Given the description of an element on the screen output the (x, y) to click on. 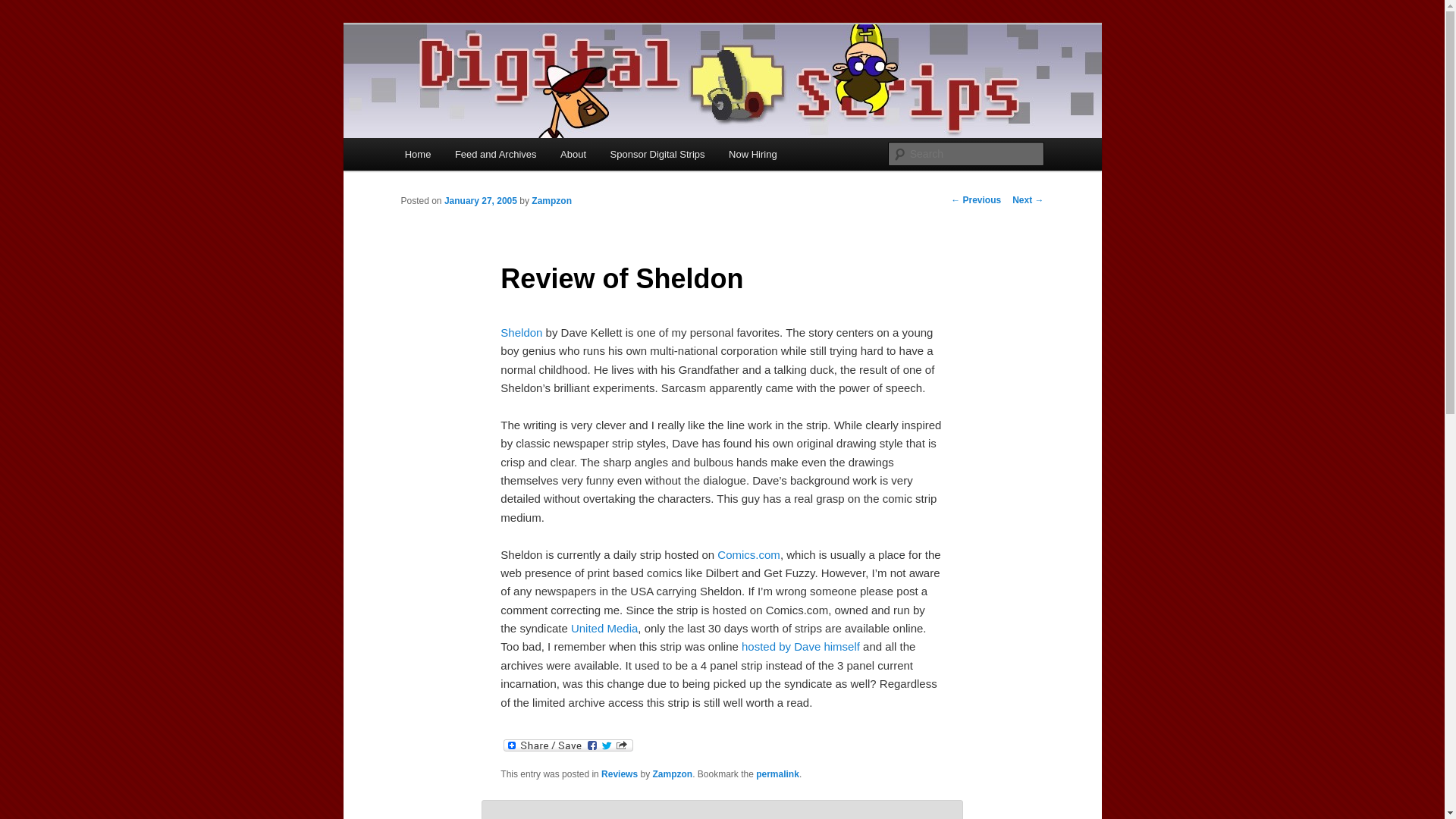
Home (417, 154)
Now Hiring (752, 154)
January 27, 2005 (480, 200)
United Media (603, 627)
View all posts by Zampzon (551, 200)
Sheldon (520, 332)
Zampzon (672, 774)
Search (24, 8)
Zampzon (551, 200)
Permalink to Review of Sheldon (777, 774)
Sponsor Digital Strips (657, 154)
2:01 pm (480, 200)
Comics.com (748, 553)
Reviews (619, 774)
About (572, 154)
